Given the description of an element on the screen output the (x, y) to click on. 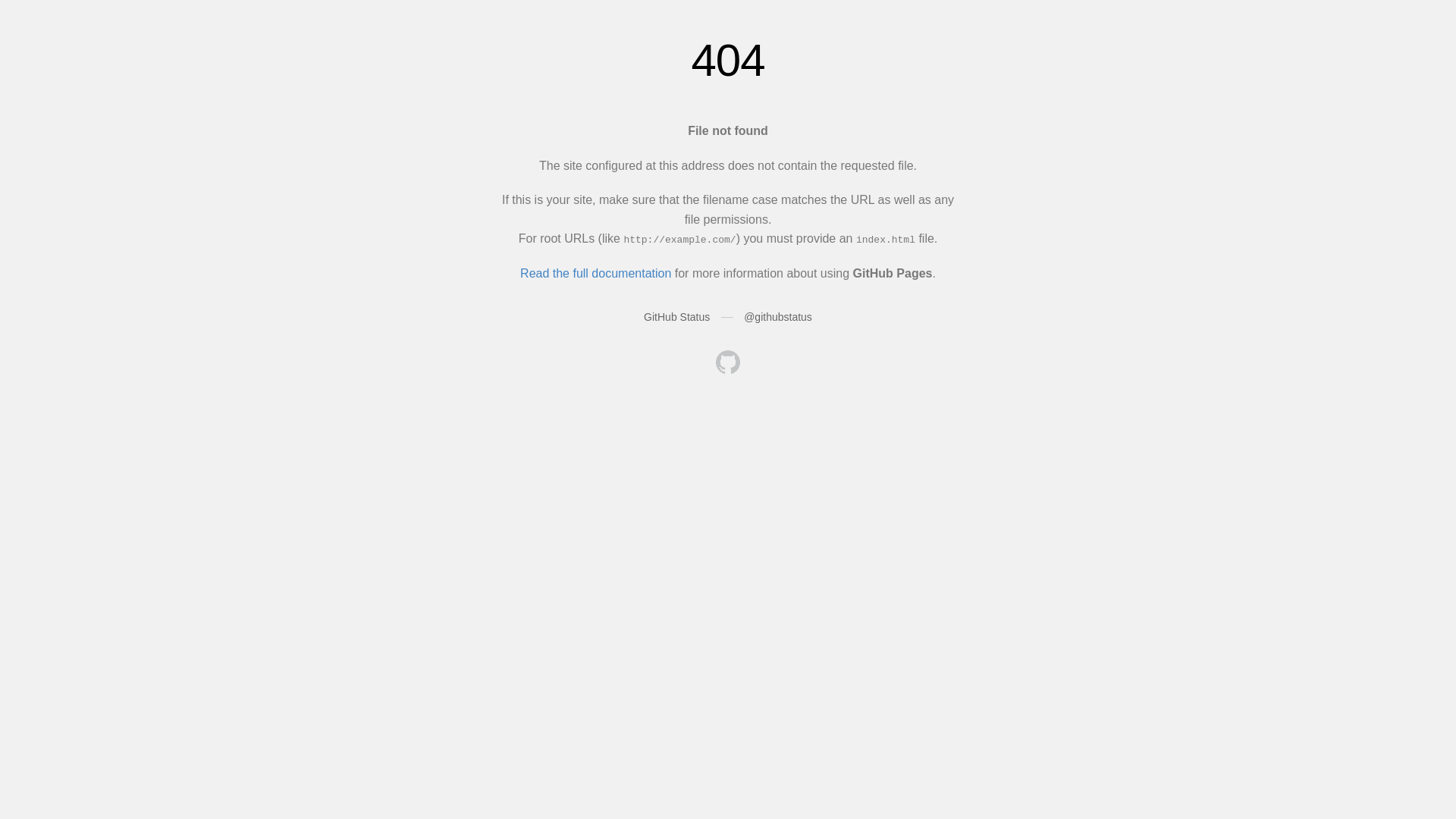
Read the full documentation Element type: text (595, 272)
GitHub Status Element type: text (676, 316)
@githubstatus Element type: text (777, 316)
